Given the description of an element on the screen output the (x, y) to click on. 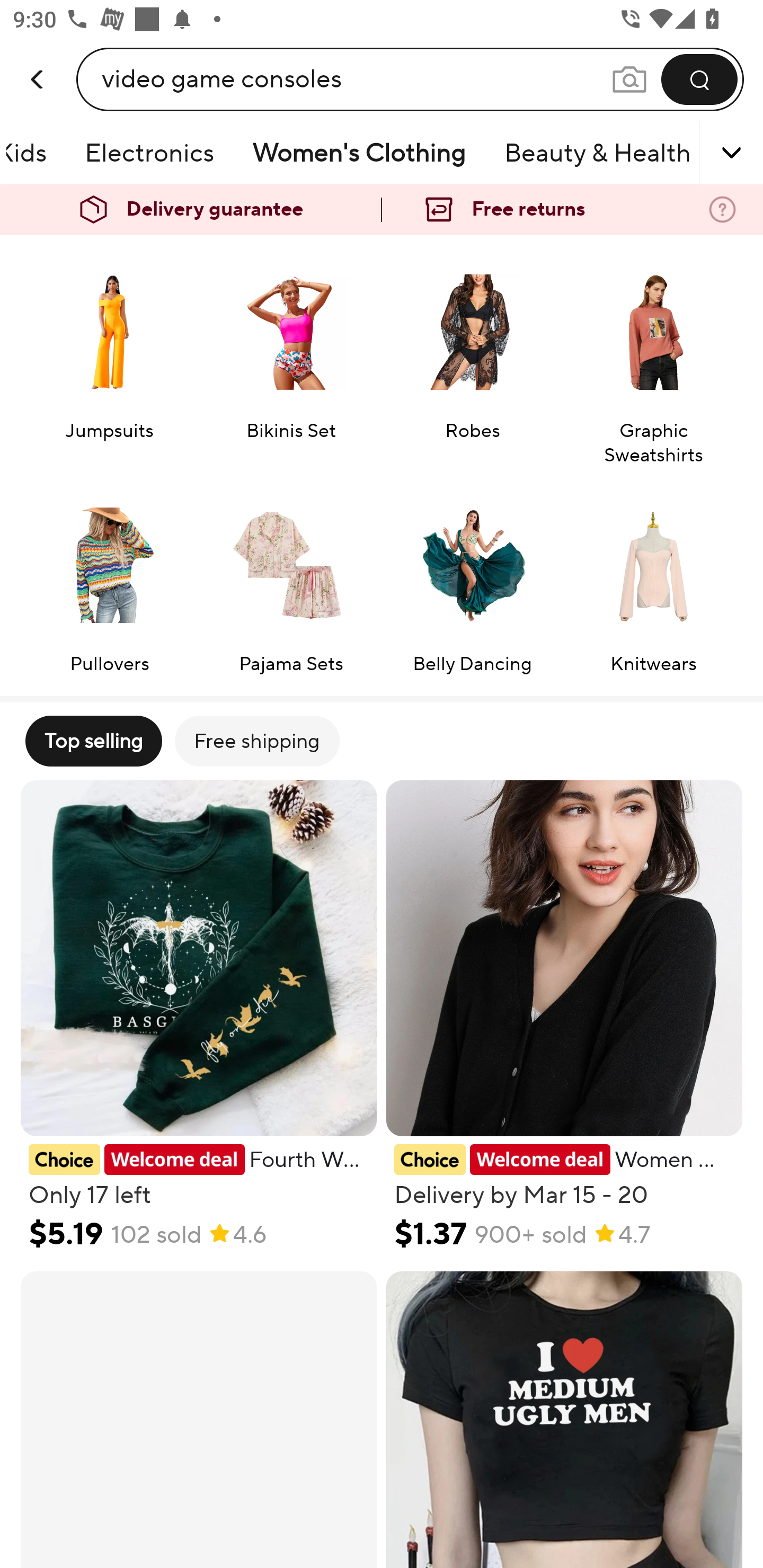
back  (38, 59)
video game consoles Search query (355, 79)
Electronics (149, 152)
Beauty & Health (597, 152)
 (705, 152)
Delivery guarantee Free returns (381, 210)
Jumpsuits (109, 357)
Bikinis Set (290, 357)
Robes (471, 357)
Graphic Sweatshirts (653, 357)
Pullovers (109, 579)
Pajama Sets (290, 579)
Belly Dancing (471, 579)
Knitwears (653, 579)
Top selling (93, 740)
Free shipping (256, 740)
